Given the description of an element on the screen output the (x, y) to click on. 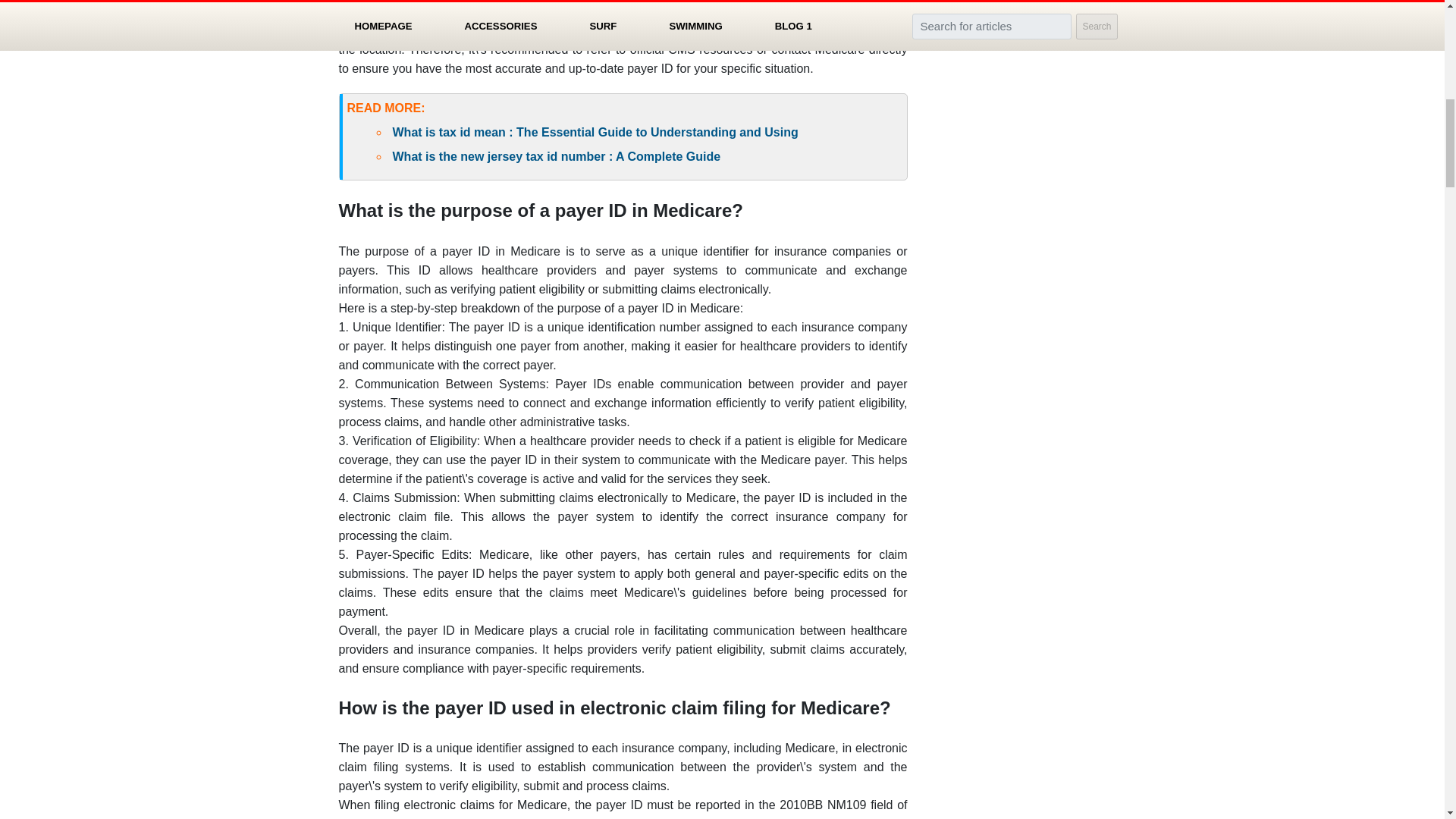
What is the new jersey tax id number : A Complete Guide (556, 155)
